Given the description of an element on the screen output the (x, y) to click on. 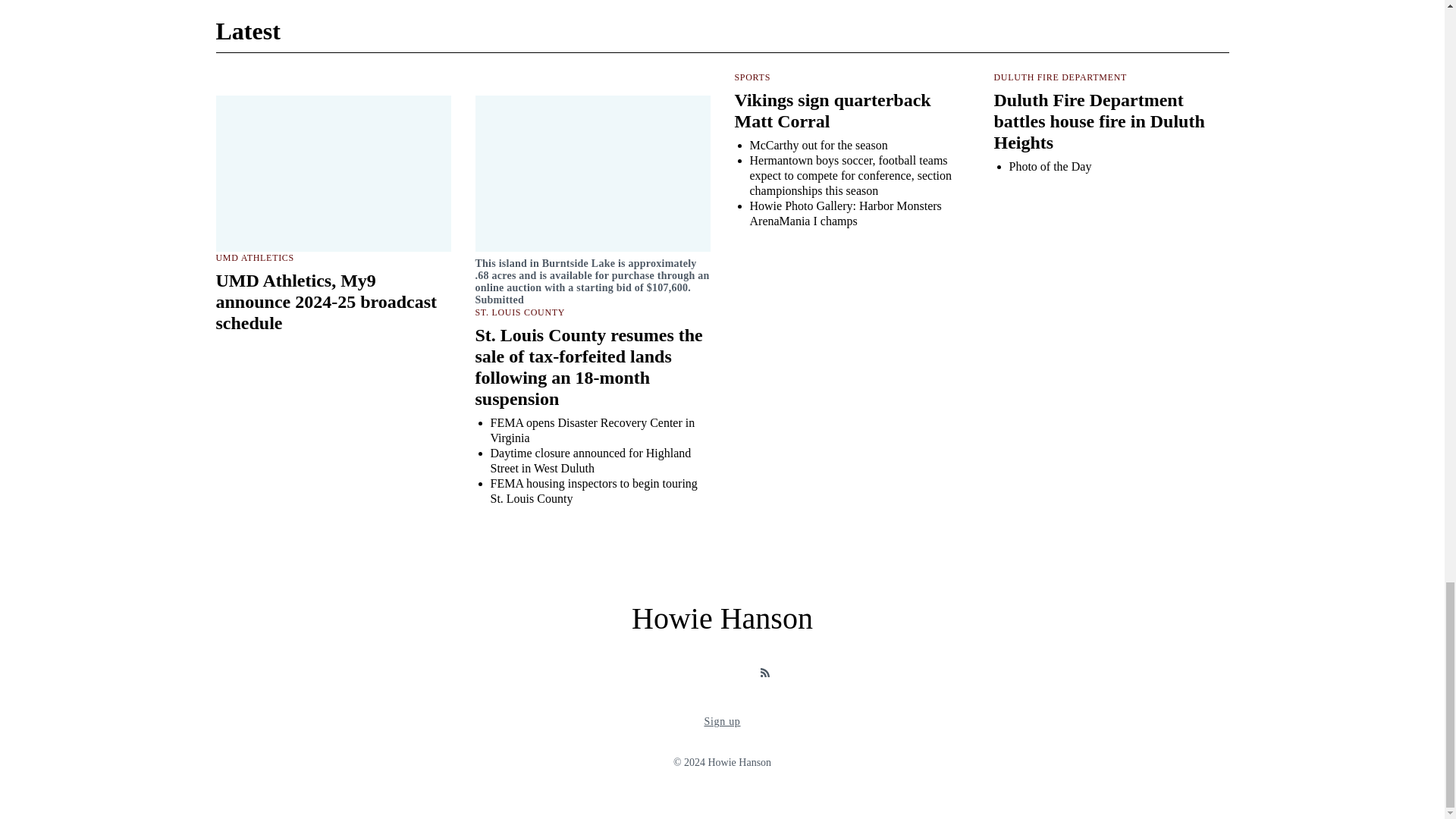
ST. LOUIS COUNTY (519, 312)
UMD ATHLETICS (254, 257)
UMD Athletics, My9 announce 2024-25 broadcast schedule (325, 301)
